Given the description of an element on the screen output the (x, y) to click on. 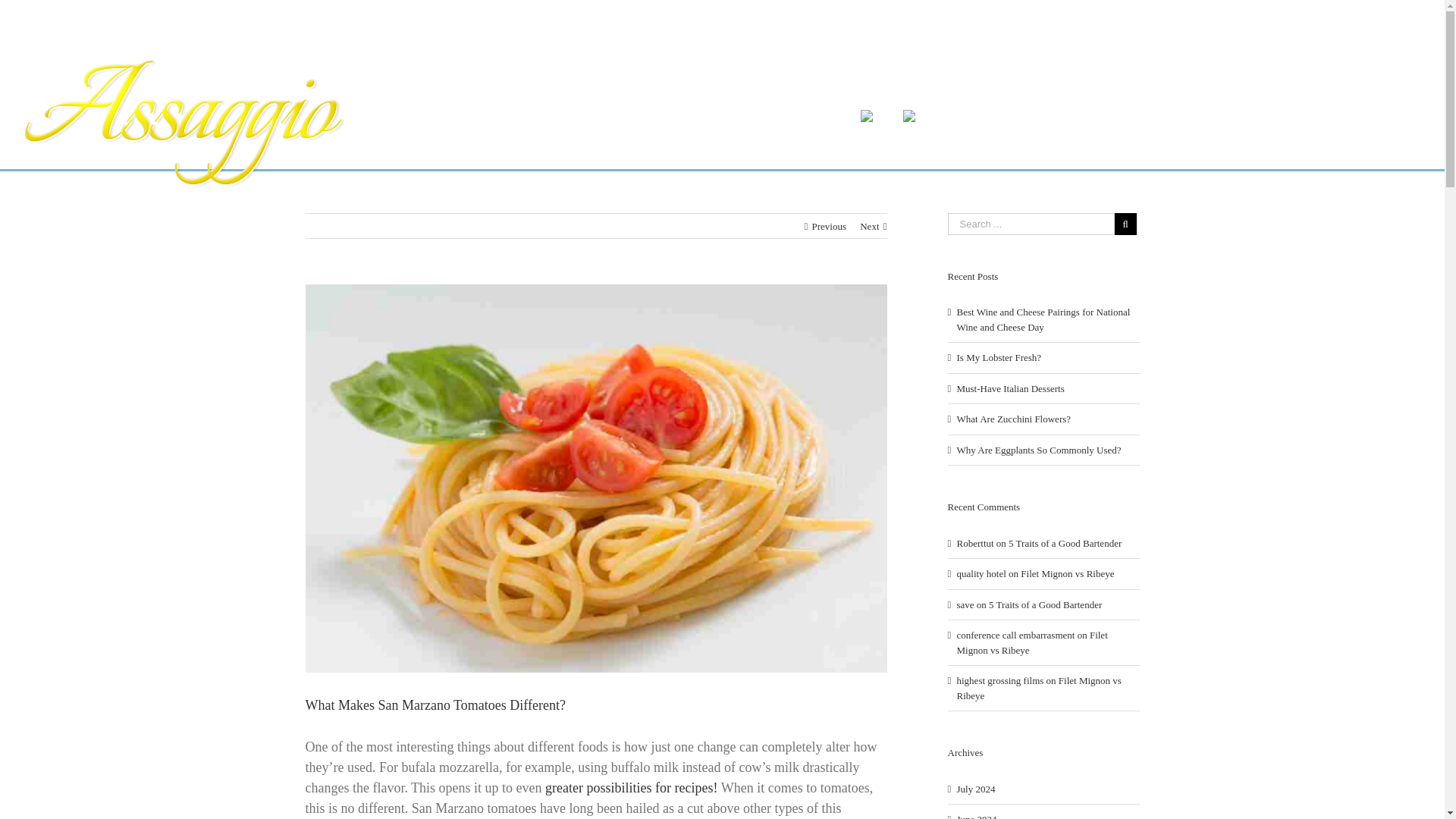
MENU (413, 116)
Previous (827, 226)
LOCATION (796, 116)
FRIENDS OF OURS (674, 116)
greater possibilities for recipes! (630, 787)
